Given the description of an element on the screen output the (x, y) to click on. 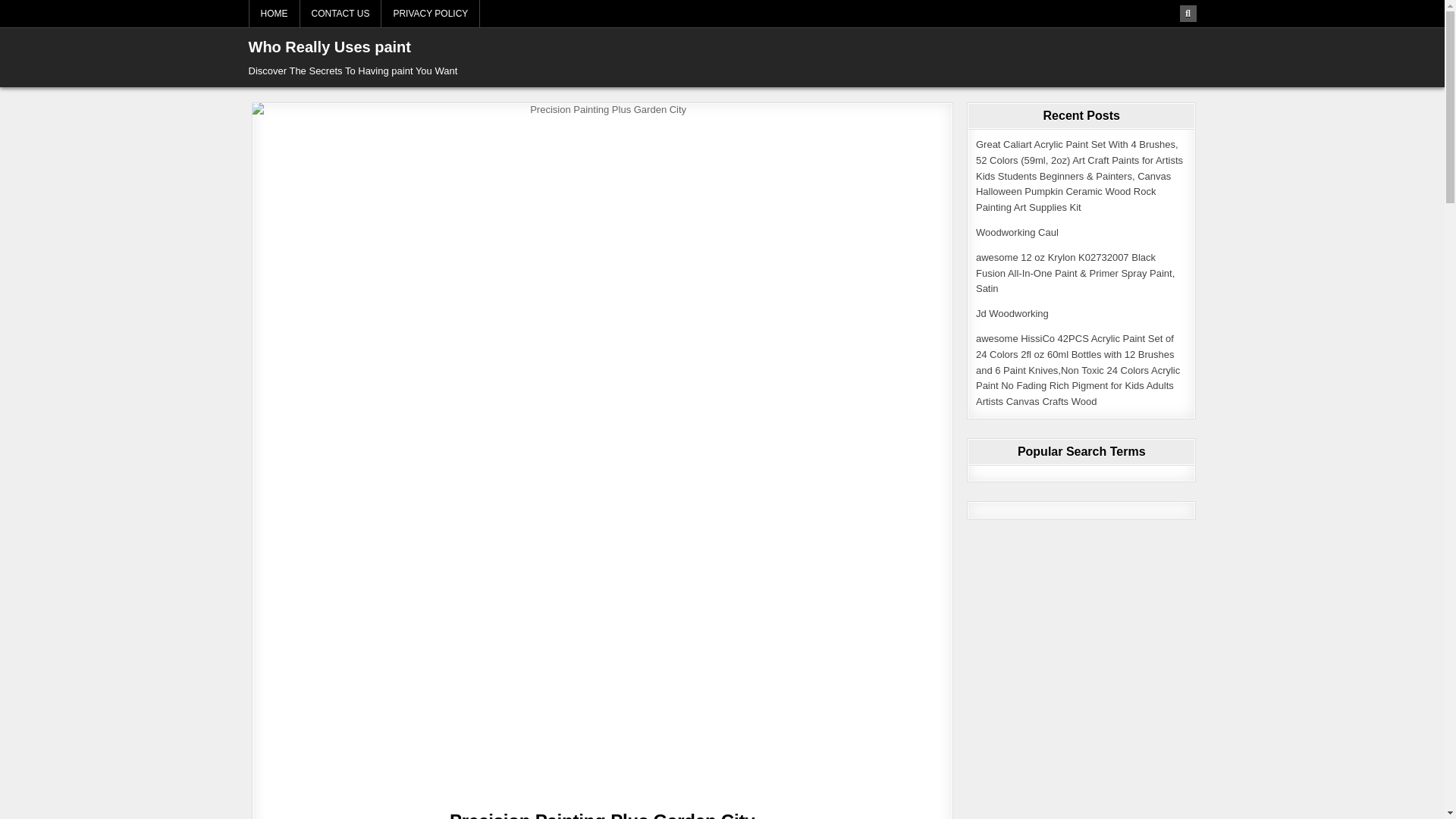
Woodworking Caul (1016, 232)
Precision Painting Plus Garden City (601, 814)
Who Really Uses paint (330, 46)
PRIVACY POLICY (430, 13)
HOME (273, 13)
CONTACT US (340, 13)
Jd Woodworking (1011, 313)
